Given the description of an element on the screen output the (x, y) to click on. 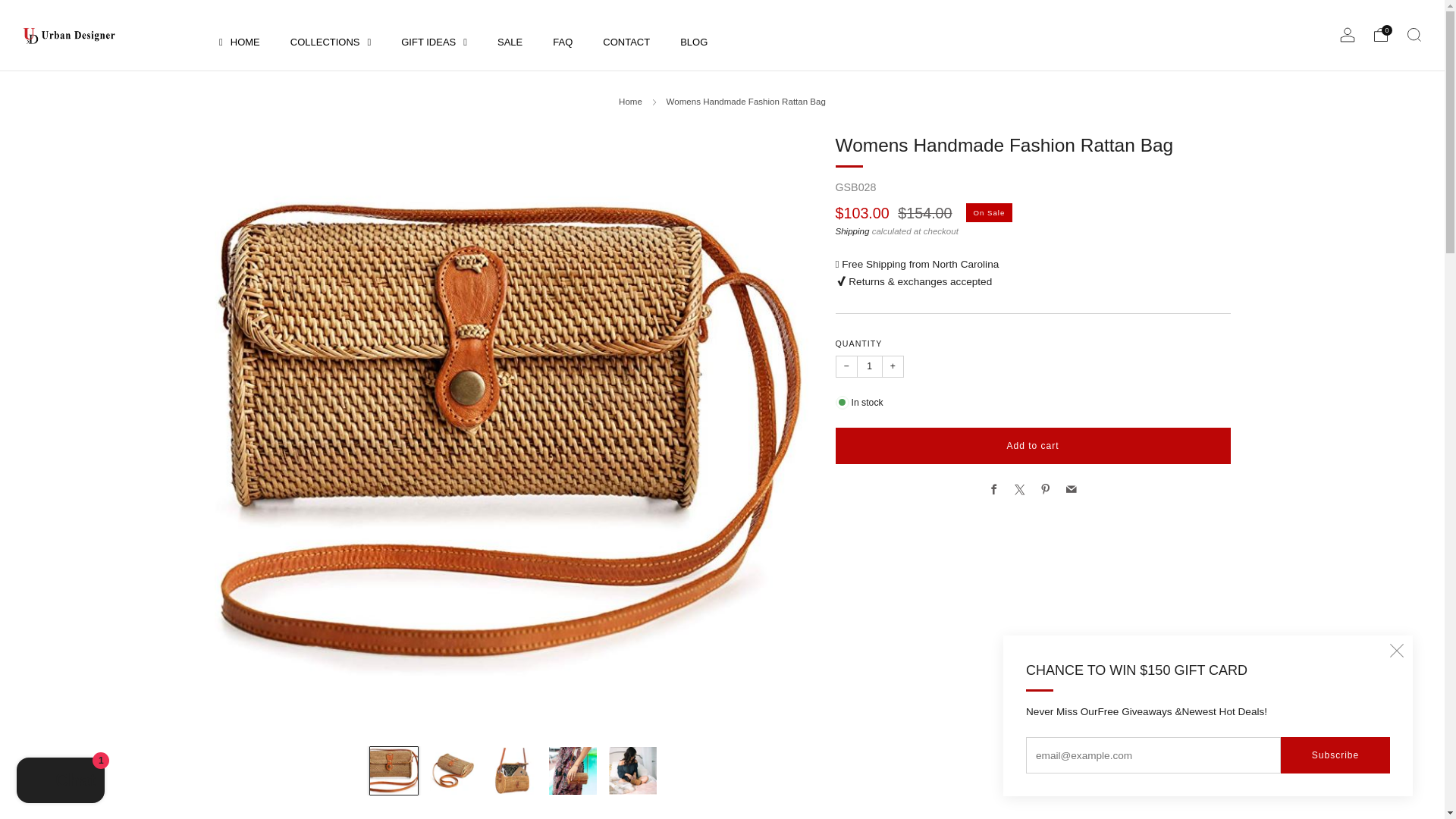
HOME (239, 41)
GIFT IDEAS (433, 41)
1 (869, 366)
CONTACT (626, 41)
COLLECTIONS (331, 41)
SALE (509, 41)
0 (1381, 34)
HOME (239, 41)
COLLECTIONS (331, 41)
BLOG (693, 41)
GIFT IDEAS (433, 41)
FAQ (562, 41)
